Given the description of an element on the screen output the (x, y) to click on. 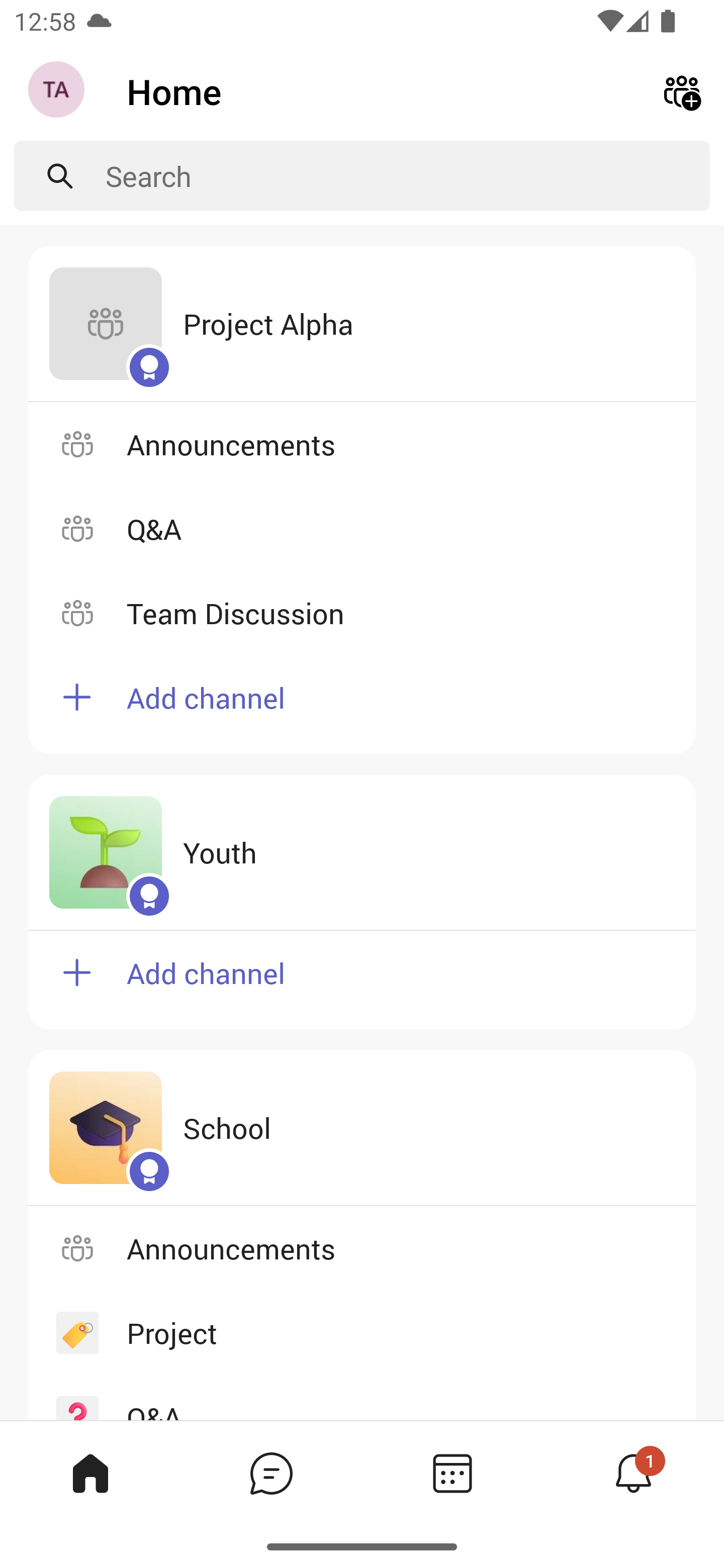
Create new community (681, 90)
Navigation (58, 91)
Search (407, 176)
Project Alpha Community. Project Alpha (361, 323)
Announcements Channel. Announcements (361, 443)
Q&A Channel. Q&A (361, 528)
Team Discussion Channel. Team Discussion (361, 612)
Youth Community. Youth (361, 852)
Add a new channel to Youth community Add channel (361, 979)
School Community. School (361, 1127)
Announcements Channel. Announcements (361, 1247)
Project Channel. Project (361, 1332)
Home tab, 1 of 4 (90, 1472)
Chat tab,2 of 4, not selected (271, 1472)
Calendar tab,3 of 4, not selected (452, 1472)
Activity tab,4 of 4, not selected, 1 new 1 (633, 1472)
